Given the description of an element on the screen output the (x, y) to click on. 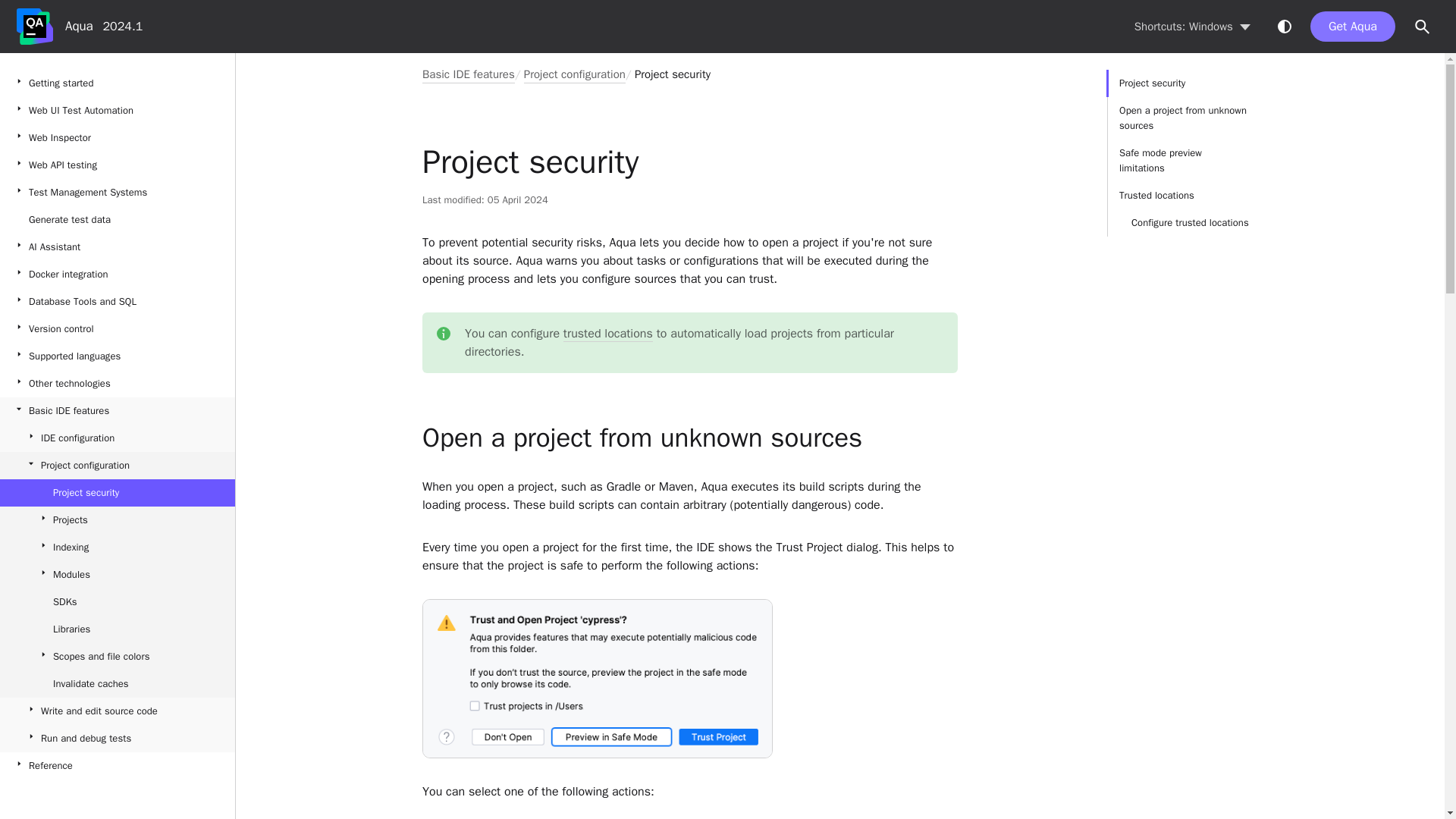
Project security (117, 492)
Web UI Test Automation (117, 110)
trusted locations (607, 333)
Docker integration (117, 274)
Version control (117, 329)
Untrusted Project (597, 678)
Project configuration (117, 465)
Getting started (117, 83)
Invalidate caches (117, 683)
Modules (117, 574)
